Given the description of an element on the screen output the (x, y) to click on. 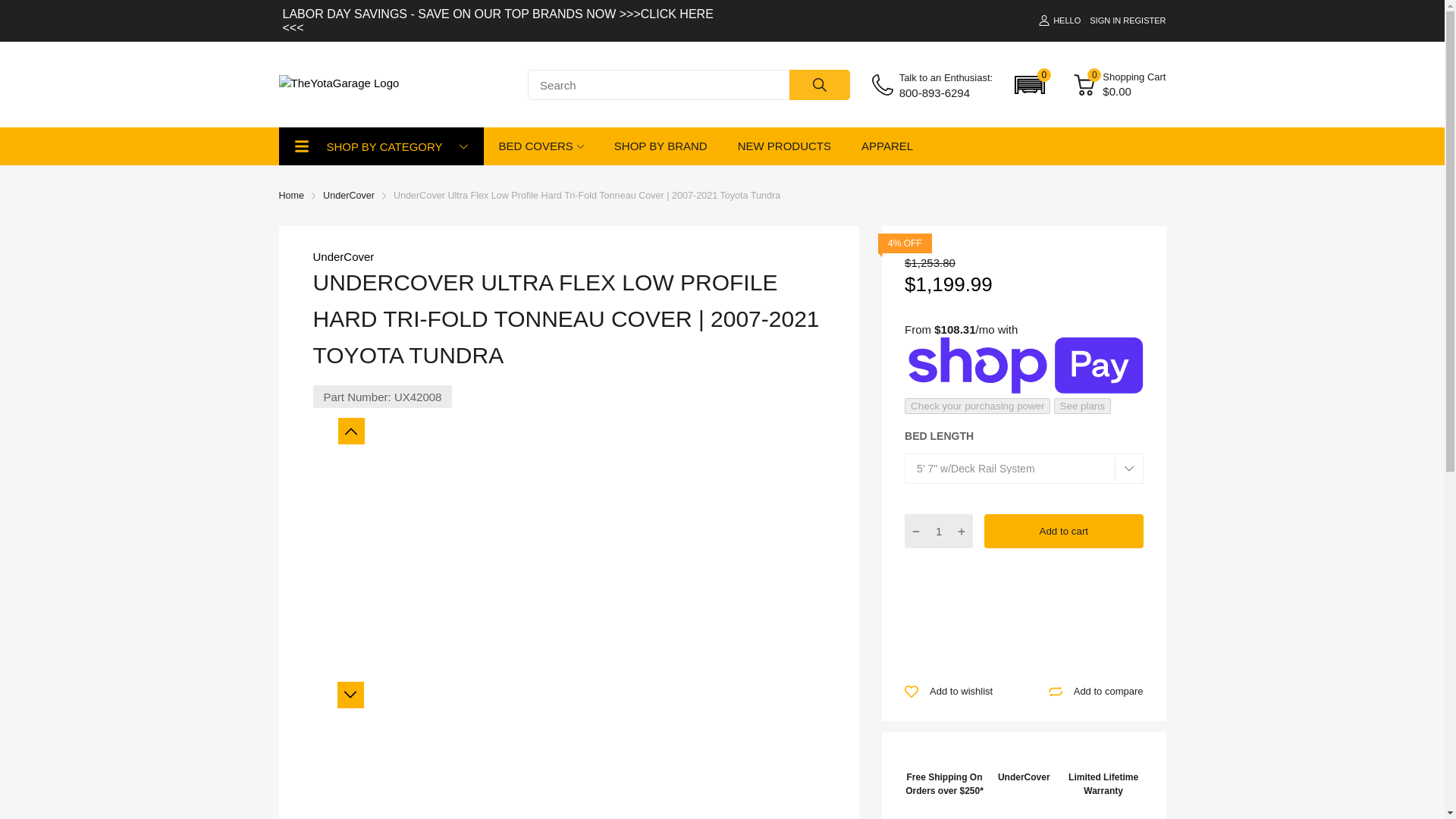
0 (1084, 84)
0 (1029, 84)
REGISTER (1144, 20)
800-893-6294 (945, 92)
HELLO (1059, 20)
Home (291, 195)
NEW PRODUCTS (784, 146)
Add to cart (1063, 530)
SHOP BY BRAND (660, 146)
Search (819, 84)
